Given the description of an element on the screen output the (x, y) to click on. 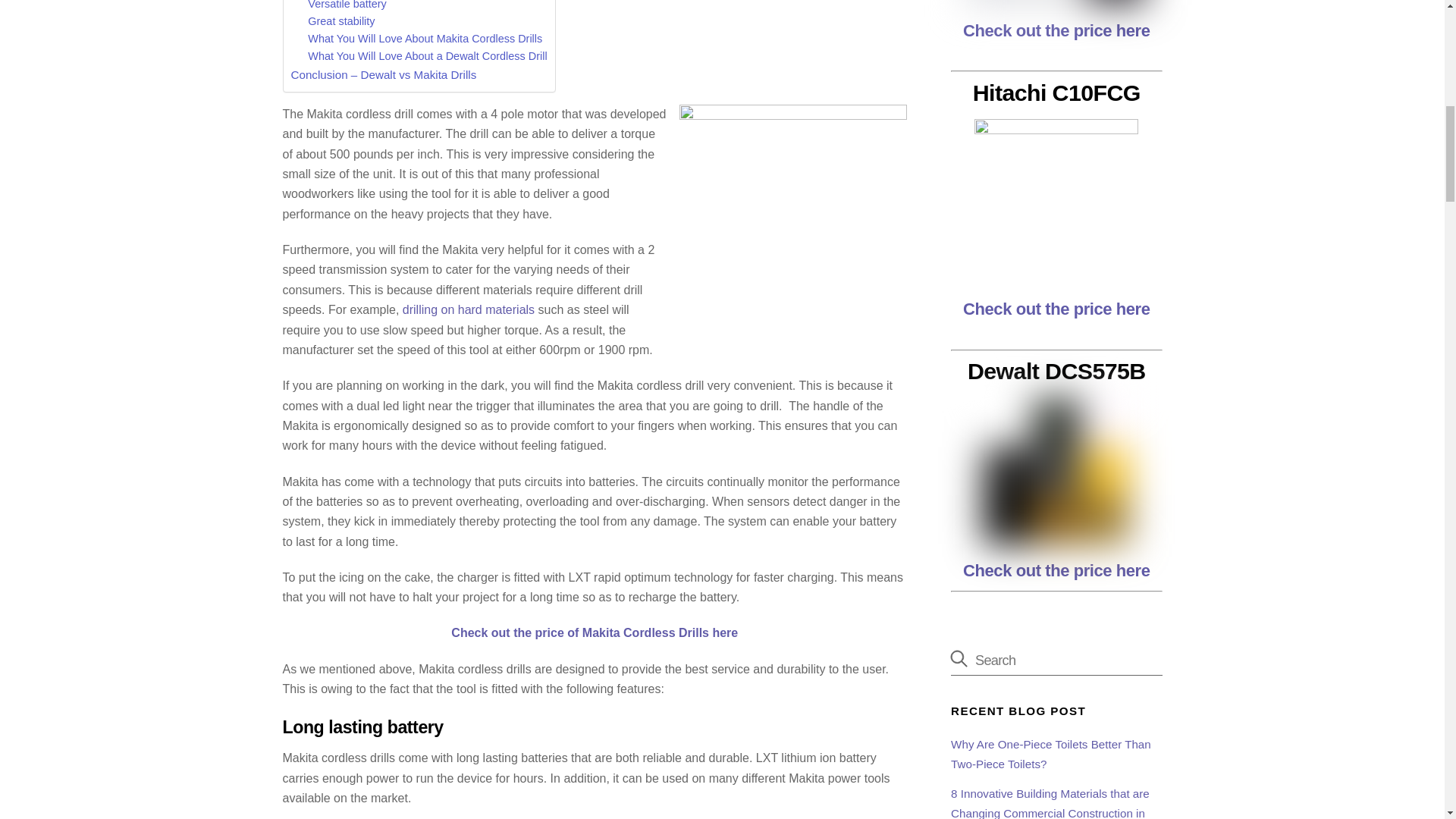
What You Will Love About a Dewalt Cordless Drill (427, 55)
Versatile battery (347, 4)
drilling on hard materials (468, 309)
What You Will Love About a Dewalt Cordless Drill (427, 55)
Versatile battery (347, 4)
What You Will Love About Makita Cordless Drills (424, 38)
Great stability (340, 21)
Great stability (340, 21)
What You Will Love About Makita Cordless Drills (424, 38)
Check out the price of Makita Cordless Drills here (594, 632)
